Given the description of an element on the screen output the (x, y) to click on. 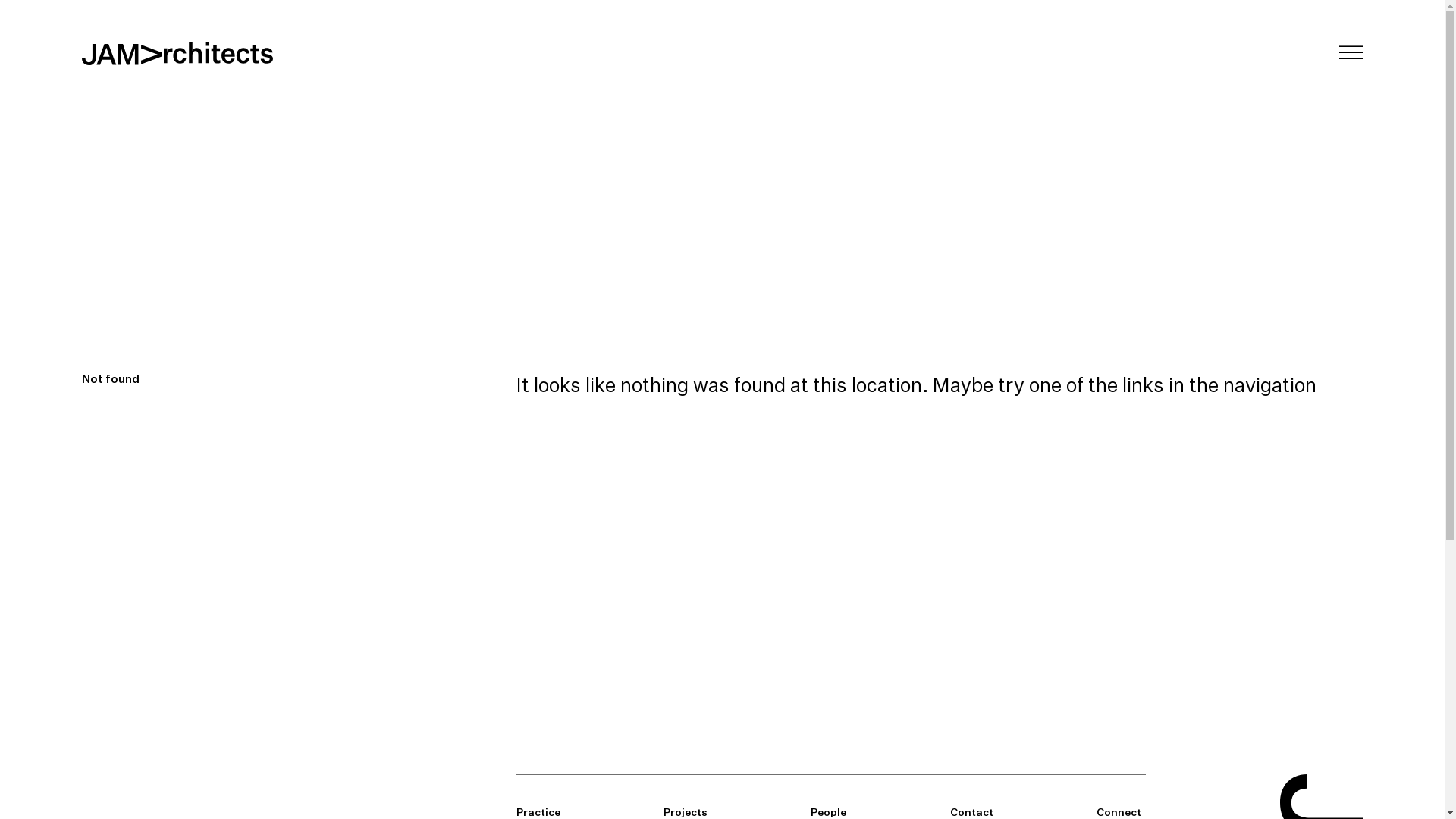
People Element type: text (828, 811)
Practice Element type: text (538, 811)
Contact Element type: text (971, 811)
Connect Element type: text (1118, 811)
Projects Element type: text (685, 811)
